Given the description of an element on the screen output the (x, y) to click on. 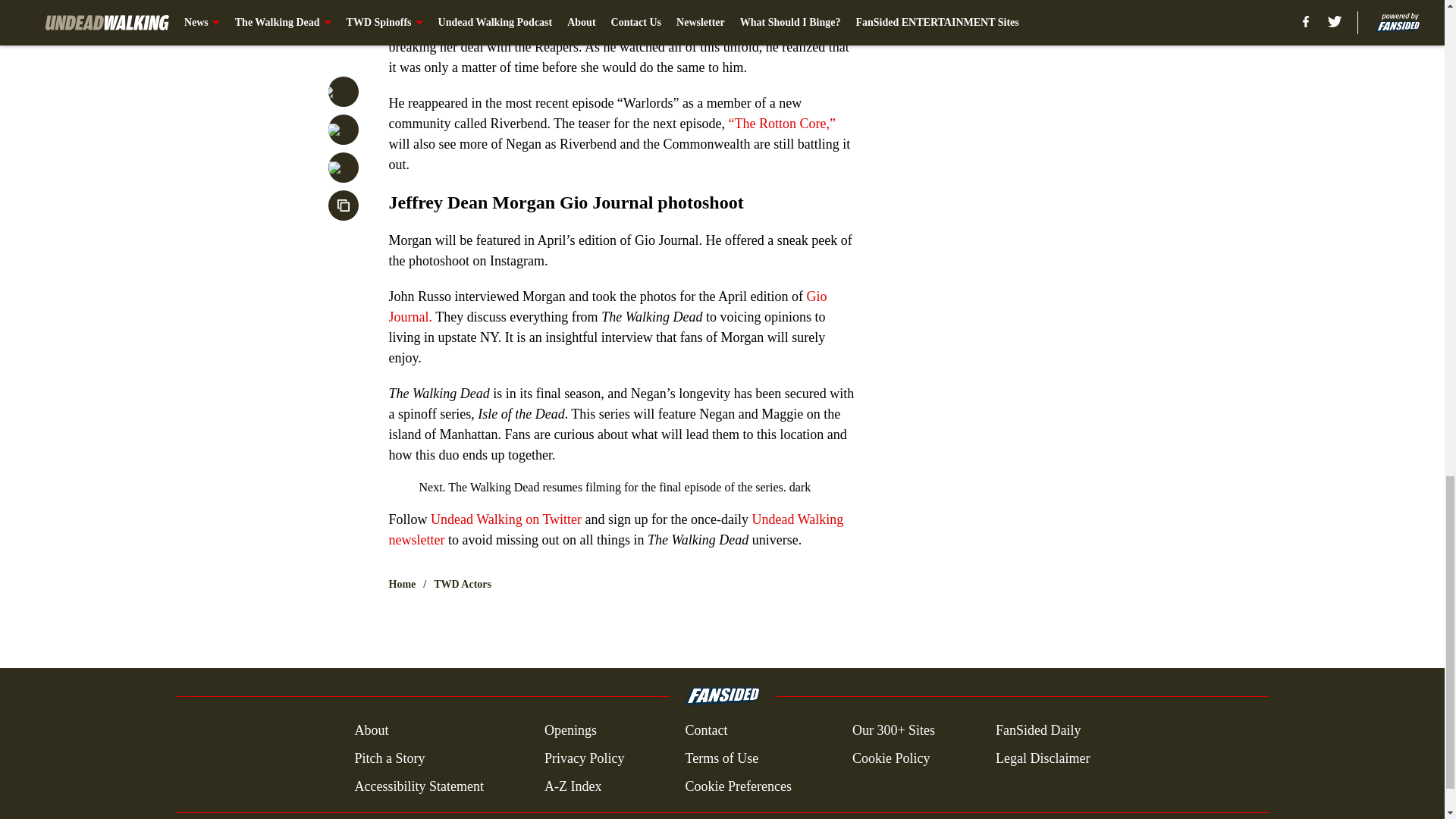
Gio Journal.  (607, 306)
Home (401, 584)
Contact (705, 730)
About (370, 730)
Openings (570, 730)
TWD Actors (462, 584)
Undead Walking on Twitter (505, 519)
Undead Walking newsletter  (615, 529)
